Given the description of an element on the screen output the (x, y) to click on. 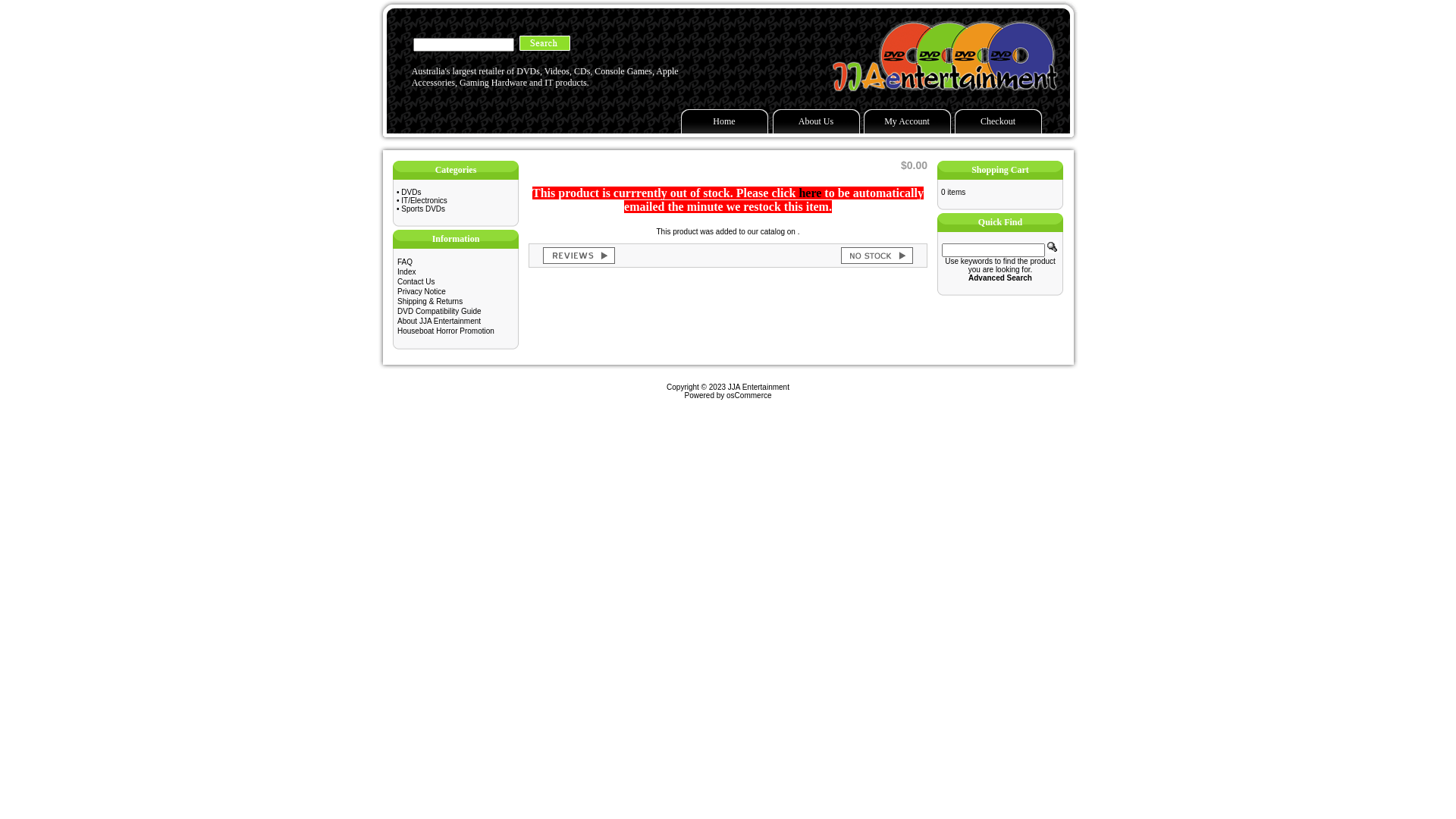
DVD Compatibility Guide Element type: text (439, 311)
Home Element type: text (724, 121)
 Reviews  Element type: hover (578, 255)
 Quick Find  Element type: hover (1052, 246)
FAQ Element type: text (404, 261)
My Account Element type: text (906, 121)
About JJA Entertainment Element type: text (438, 320)
About Us Element type: text (815, 121)
Advanced Search Element type: text (1000, 277)
JJA Entertainment Element type: text (758, 386)
Index Element type: text (406, 271)
 IMAGE_BUTTON_SOLD_OUT  Element type: hover (876, 255)
osCommerce Element type: text (748, 395)
Contact Us Element type: text (415, 281)
Shipping & Returns Element type: text (429, 301)
Checkout Element type: text (997, 121)
Privacy Notice Element type: text (421, 291)
Houseboat Horror Promotion Element type: text (445, 330)
here Element type: text (809, 192)
